Given the description of an element on the screen output the (x, y) to click on. 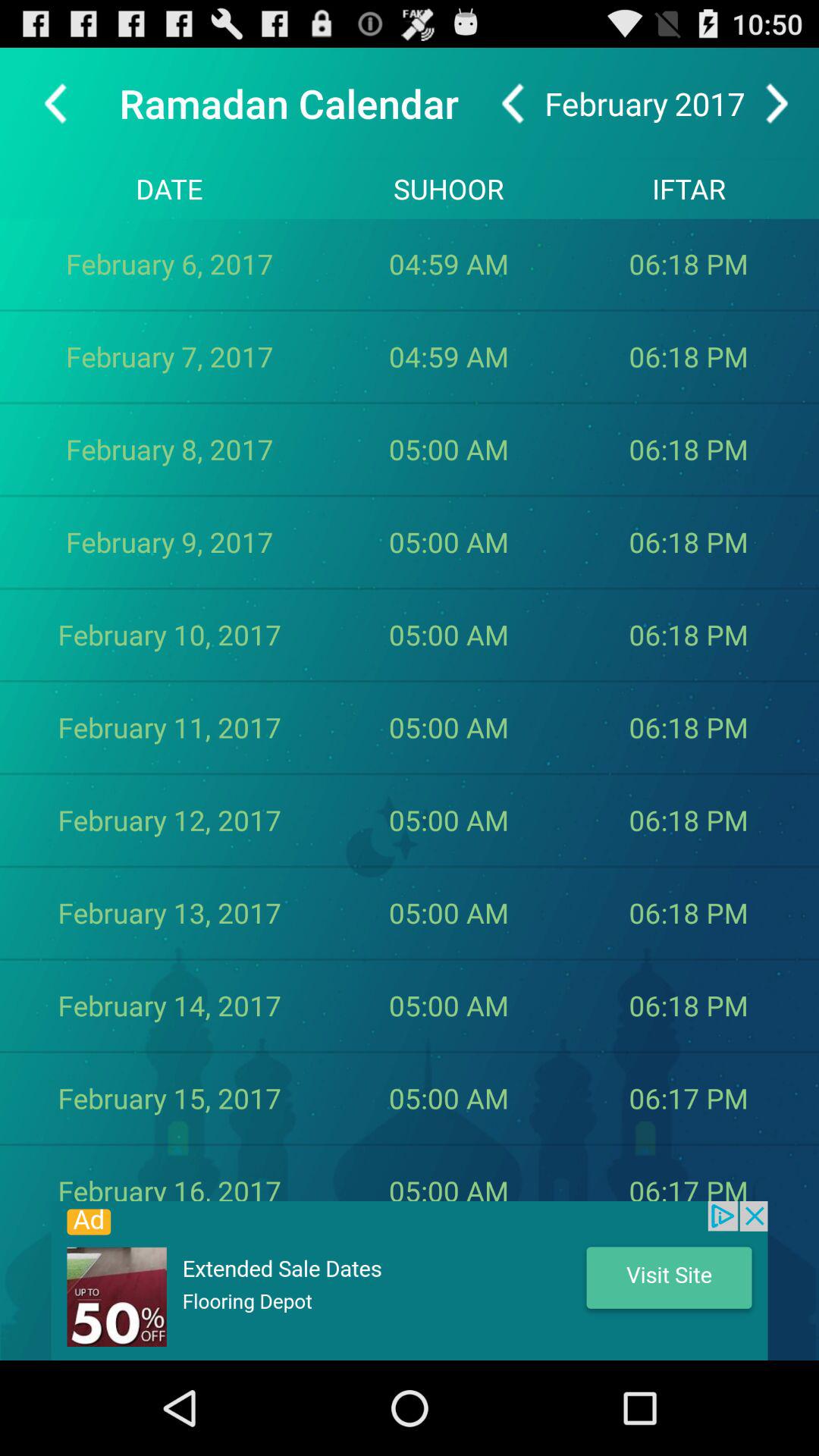
advance to next month (776, 103)
